Given the description of an element on the screen output the (x, y) to click on. 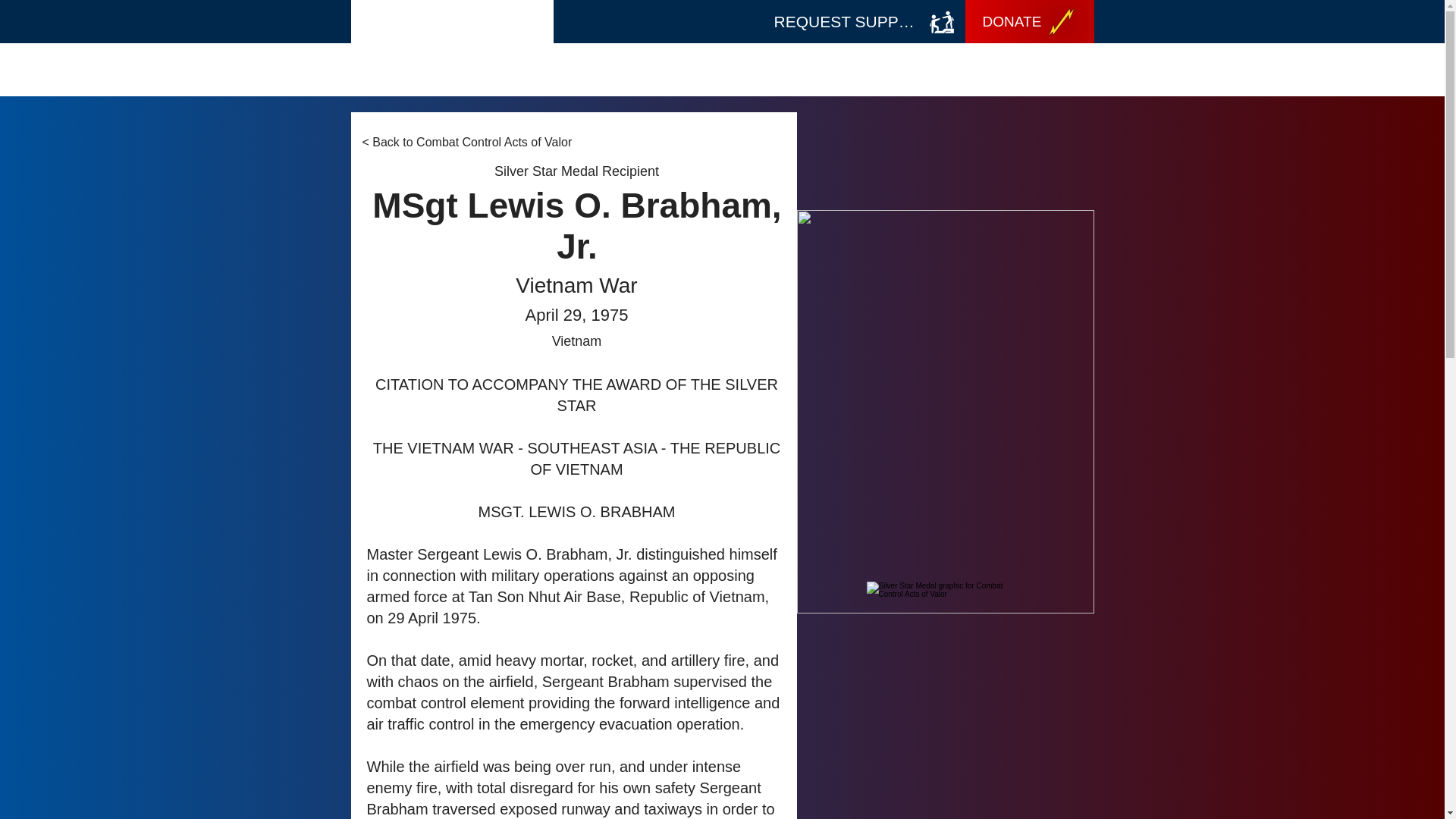
MSgt Lewis O. Brabham, Jr. Silver Star Medal recipient (944, 411)
DONATE (1028, 21)
REQUEST SUPPORT (863, 21)
US Silver Star-web.png (944, 696)
